Given the description of an element on the screen output the (x, y) to click on. 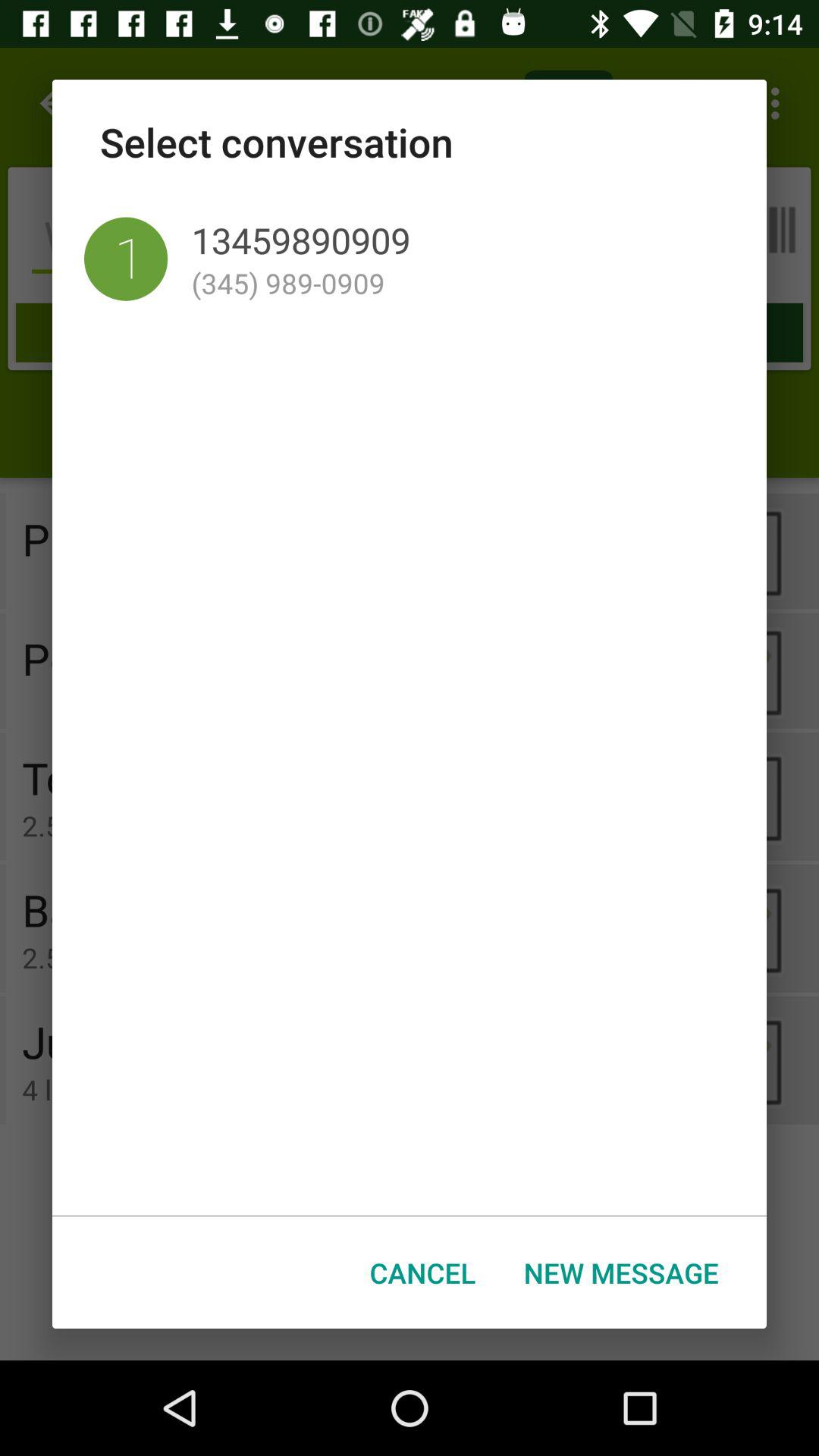
click button next to new message item (422, 1272)
